Given the description of an element on the screen output the (x, y) to click on. 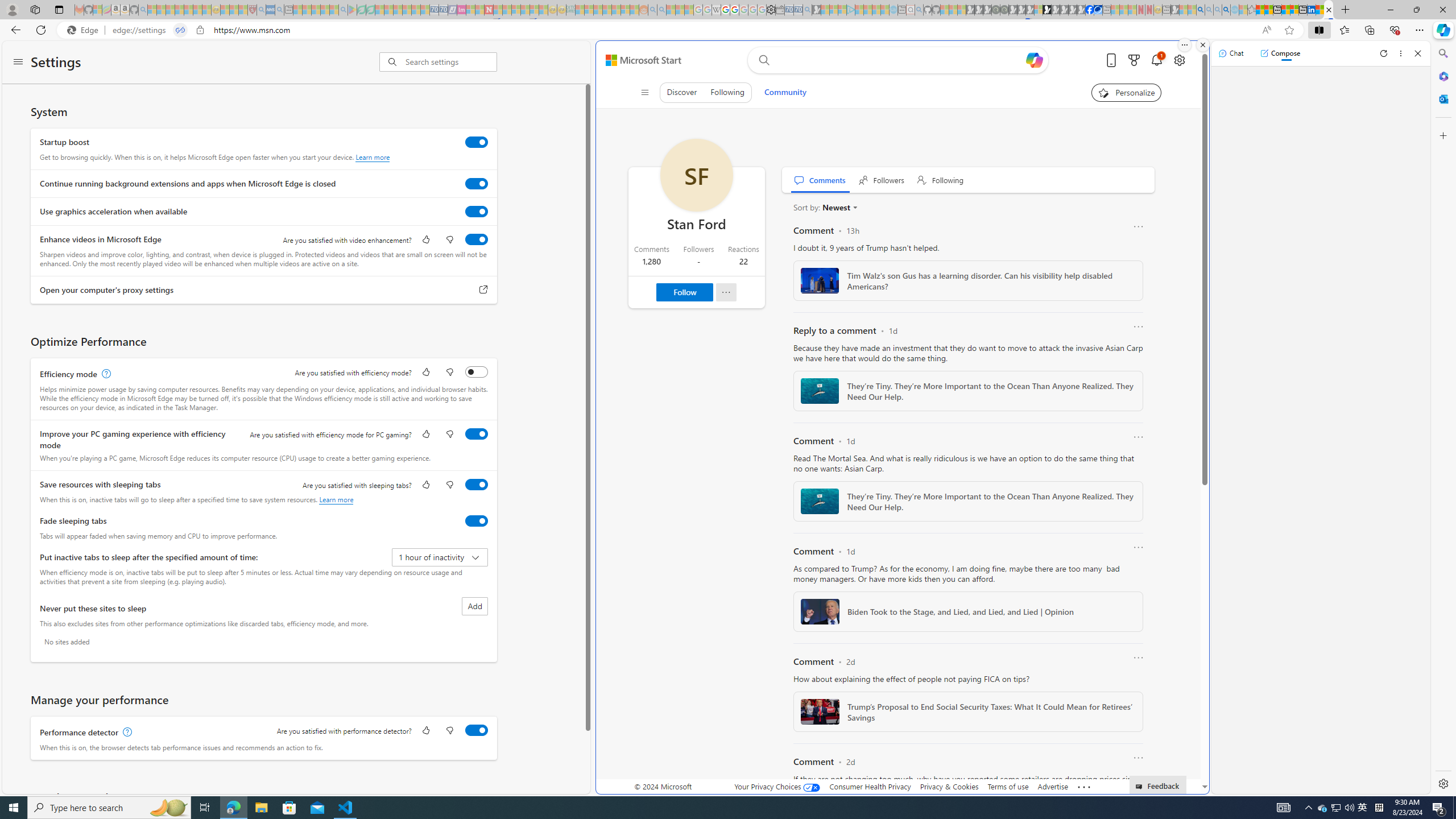
Class: feedback_link_icon-DS-EntryPoint1-1 (1140, 786)
Class: oneFooter_seeMore-DS-EntryPoint1-1 (1083, 786)
